Given the description of an element on the screen output the (x, y) to click on. 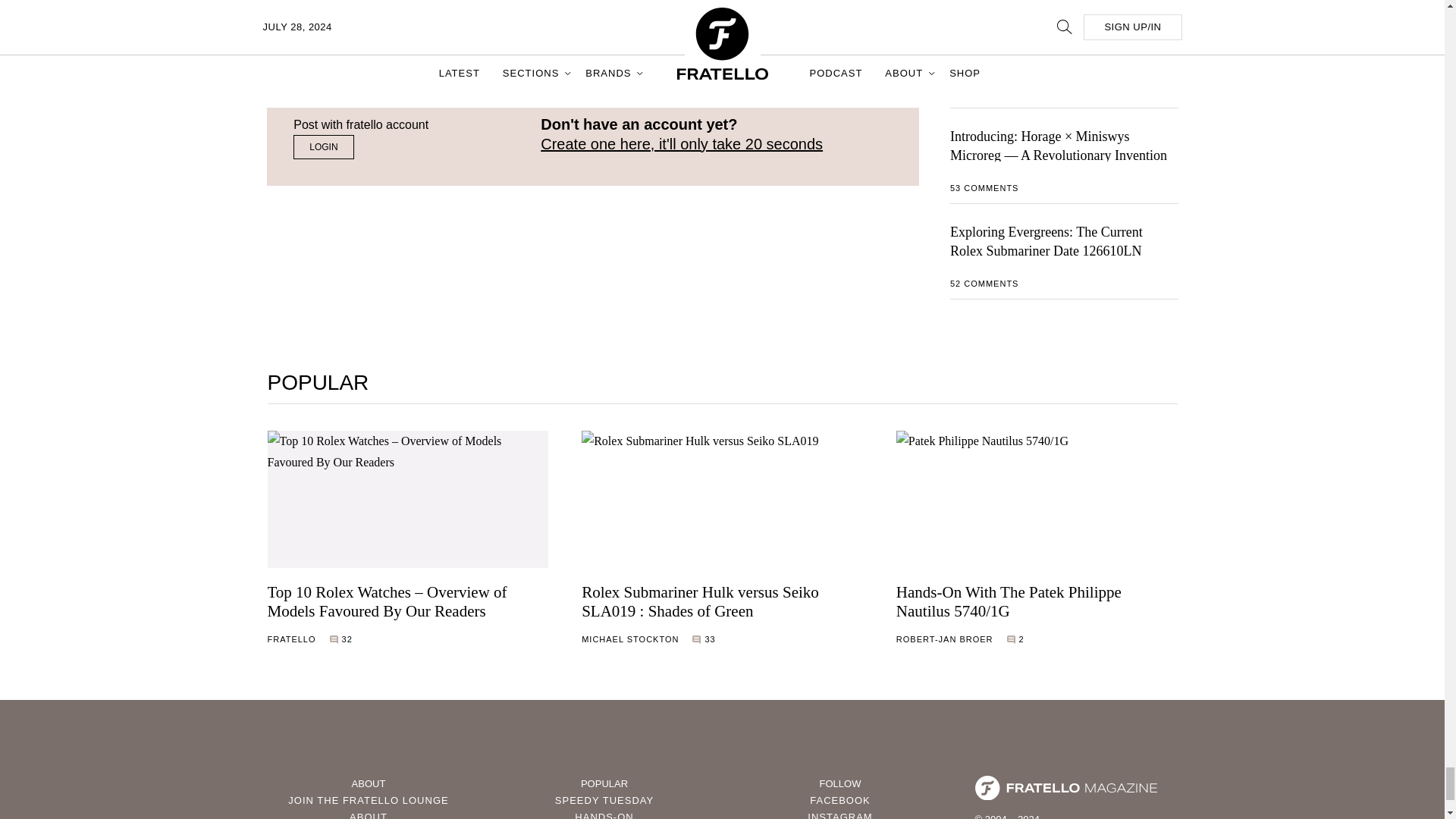
Add comment (335, 72)
